Given the description of an element on the screen output the (x, y) to click on. 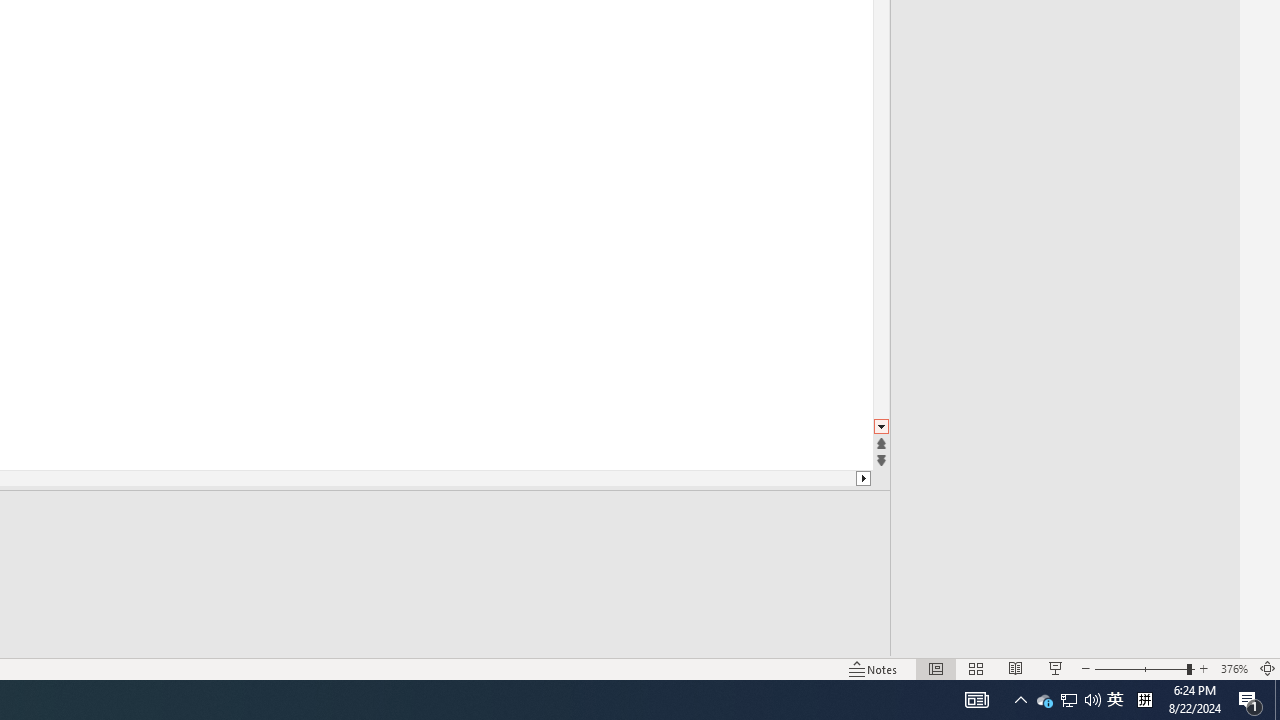
Zoom 376% (1234, 668)
Line down (880, 427)
Notes  (874, 668)
